Given the description of an element on the screen output the (x, y) to click on. 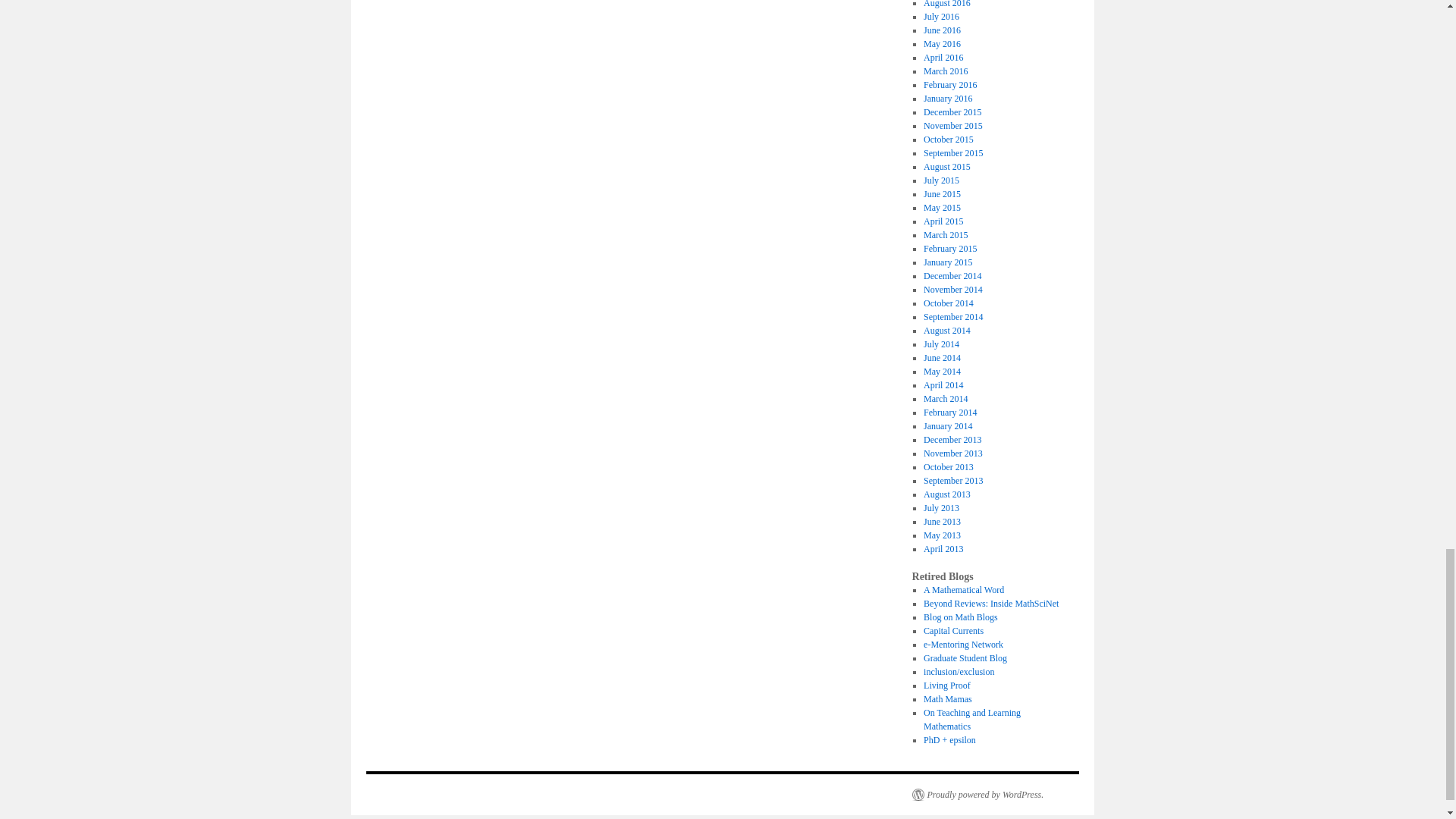
Capital Currents (953, 630)
Blog on Math Blogs (960, 616)
A Mathematical Word (963, 589)
Beyond Reviews: Inside MathSciNet (990, 603)
